Given the description of an element on the screen output the (x, y) to click on. 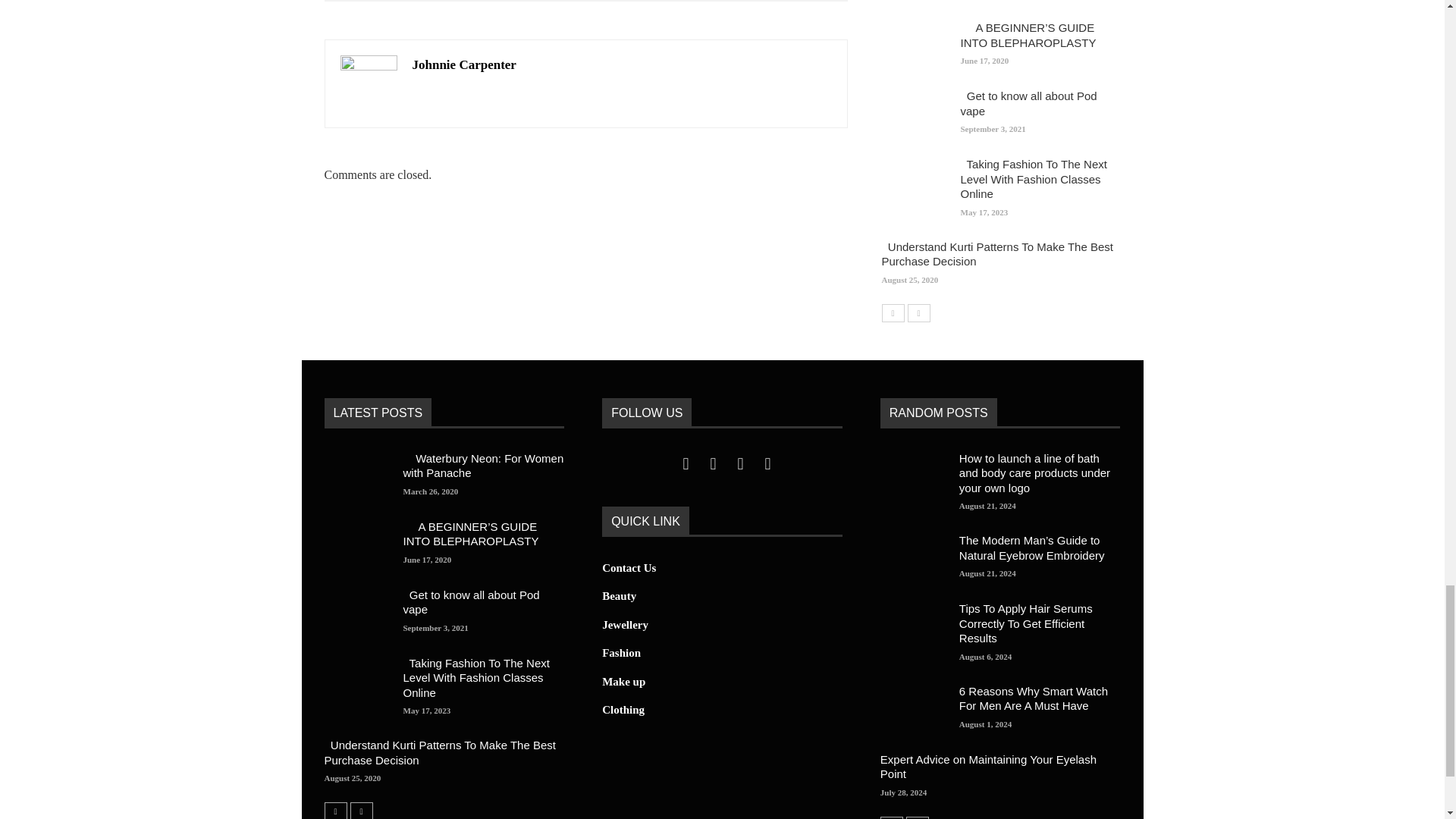
Johnnie Carpenter (464, 64)
Previous (891, 817)
Next (361, 810)
Next (916, 817)
Previous (892, 312)
Previous (335, 810)
Next (918, 312)
